Given the description of an element on the screen output the (x, y) to click on. 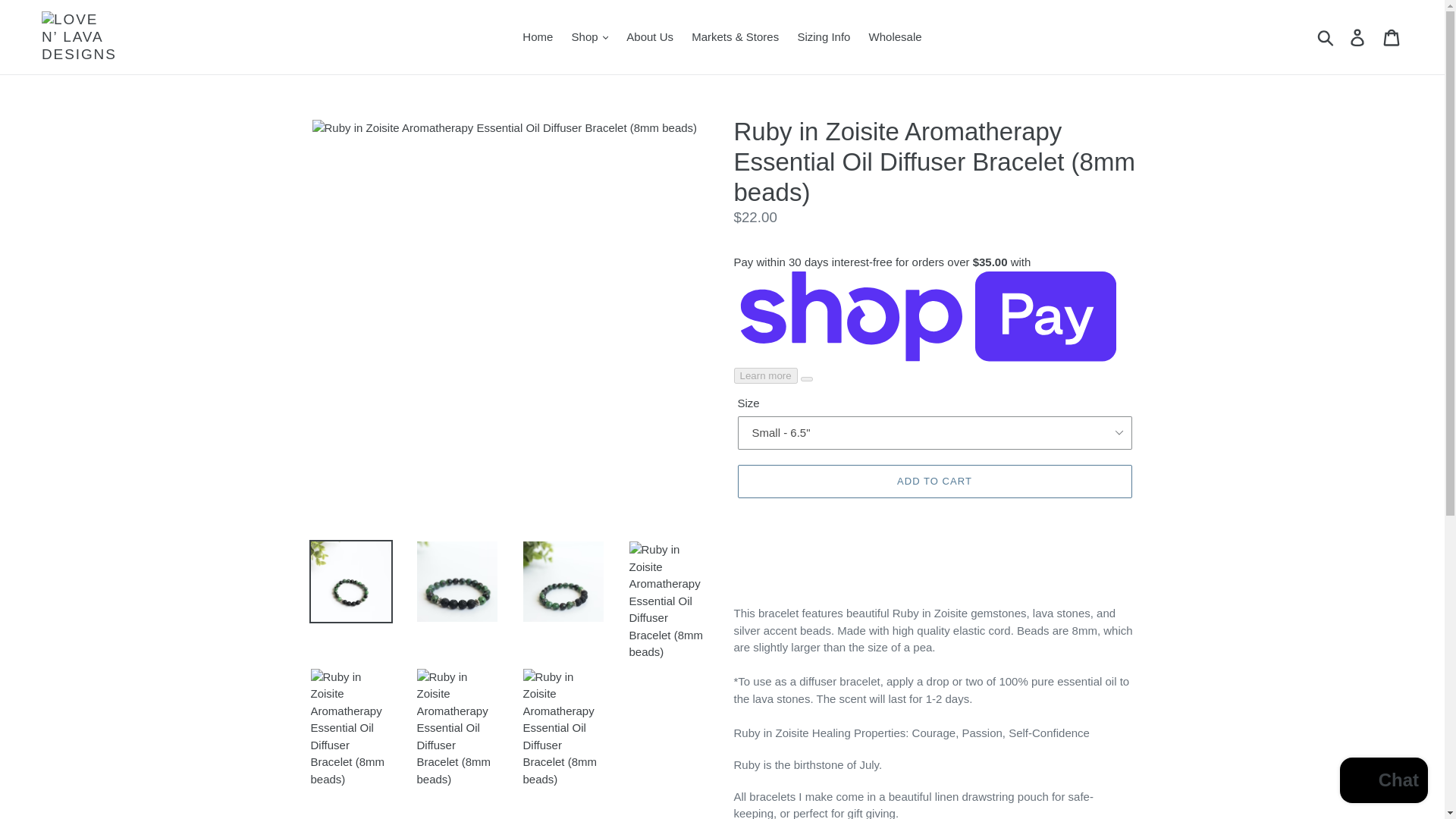
Cart (1392, 37)
Home (537, 37)
Shopify online store chat (1383, 781)
About Us (649, 37)
Sizing Info (823, 37)
Wholesale (895, 37)
Submit (1326, 37)
Log in (1357, 37)
